Given the description of an element on the screen output the (x, y) to click on. 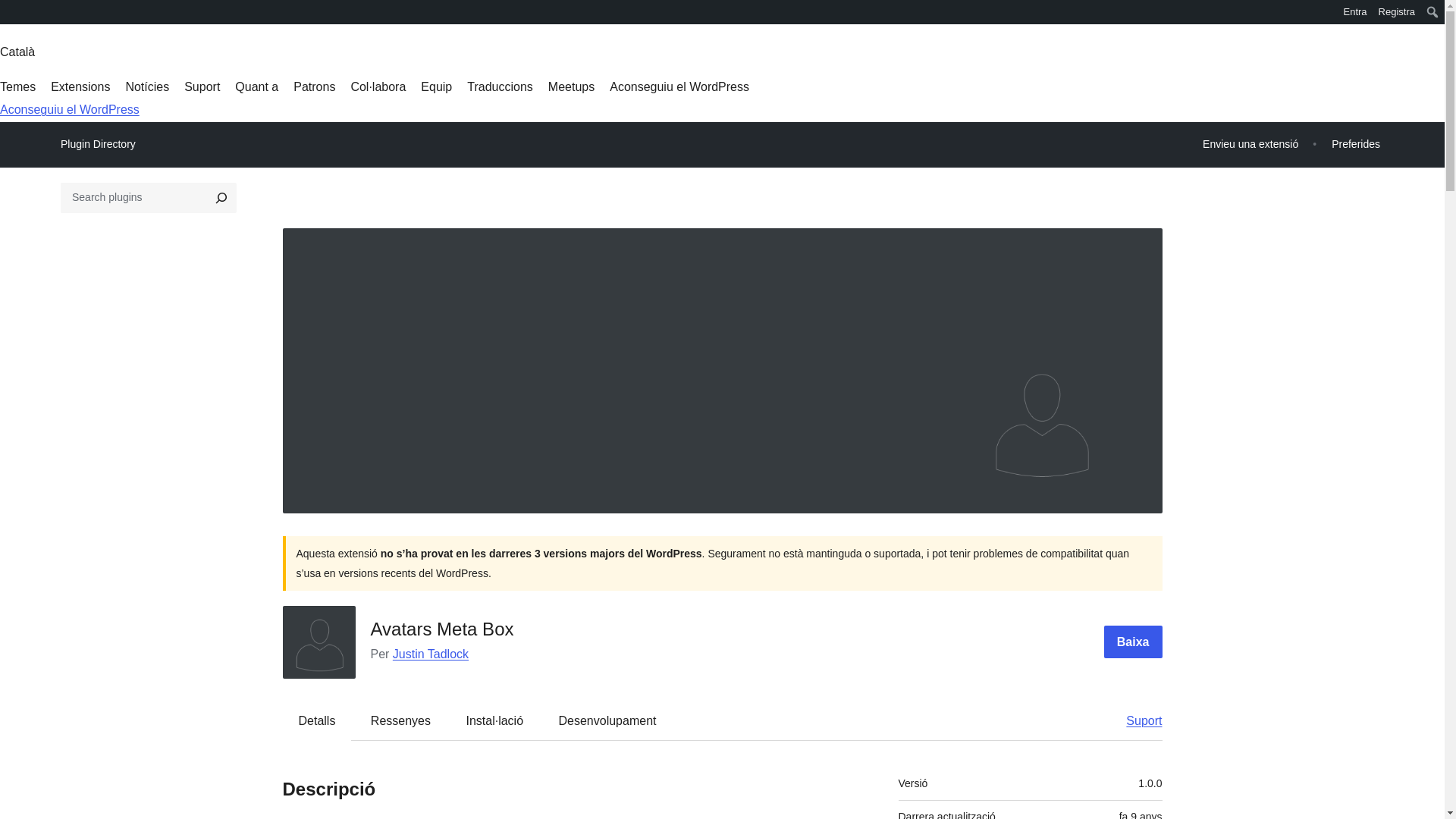
WordPress.org (10, 10)
Desenvolupament (607, 720)
Baixa (1132, 641)
Plugin Directory (97, 143)
Quant a (256, 87)
Justin Tadlock (430, 653)
Suport (201, 87)
Patrons (314, 87)
Cerca (14, 13)
Equip (435, 87)
Meetups (571, 87)
Extensions (80, 87)
Entra (1355, 12)
Traduccions (499, 87)
Aconseguiu el WordPress (69, 109)
